Given the description of an element on the screen output the (x, y) to click on. 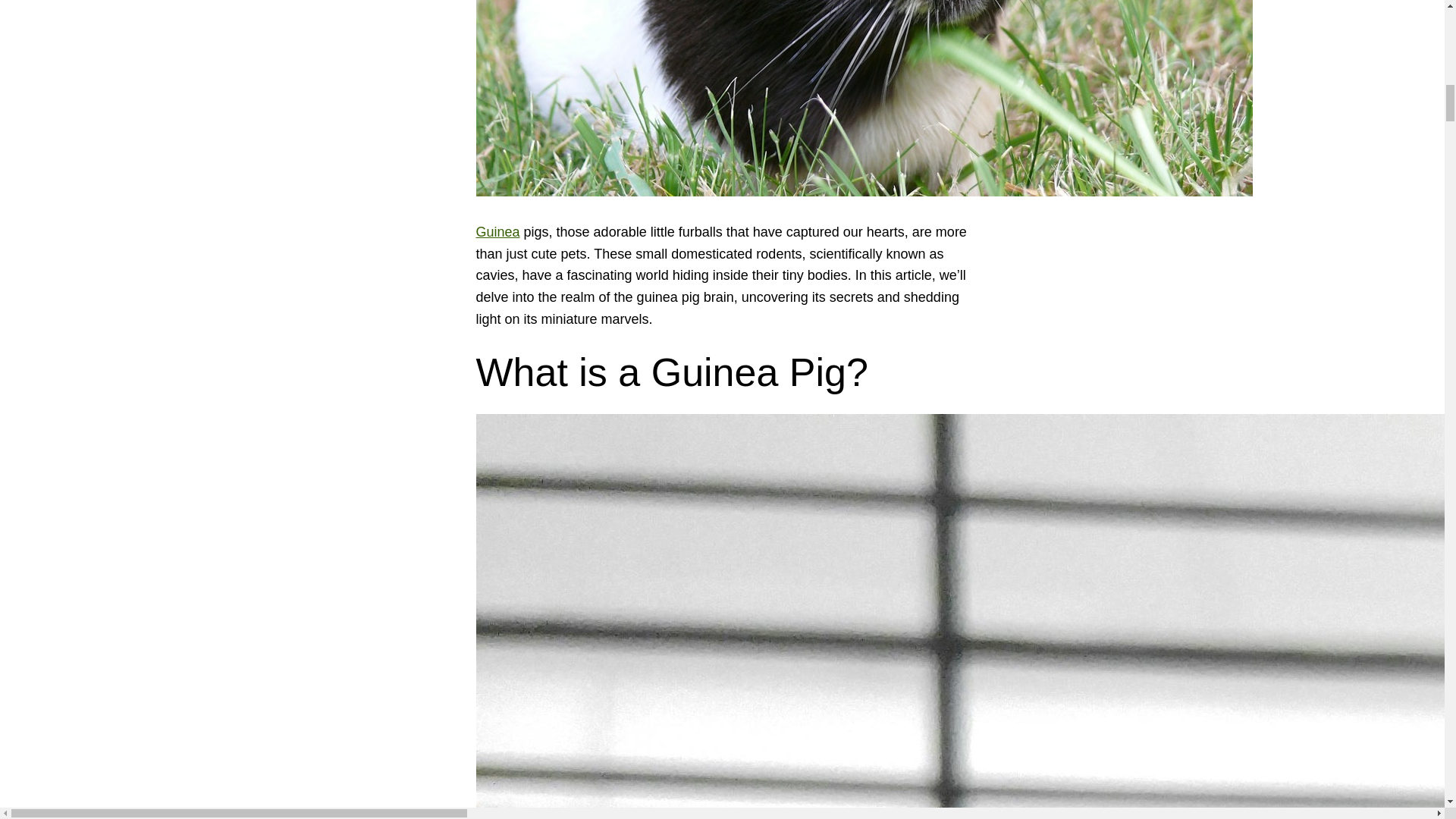
Guinea (497, 231)
